Given the description of an element on the screen output the (x, y) to click on. 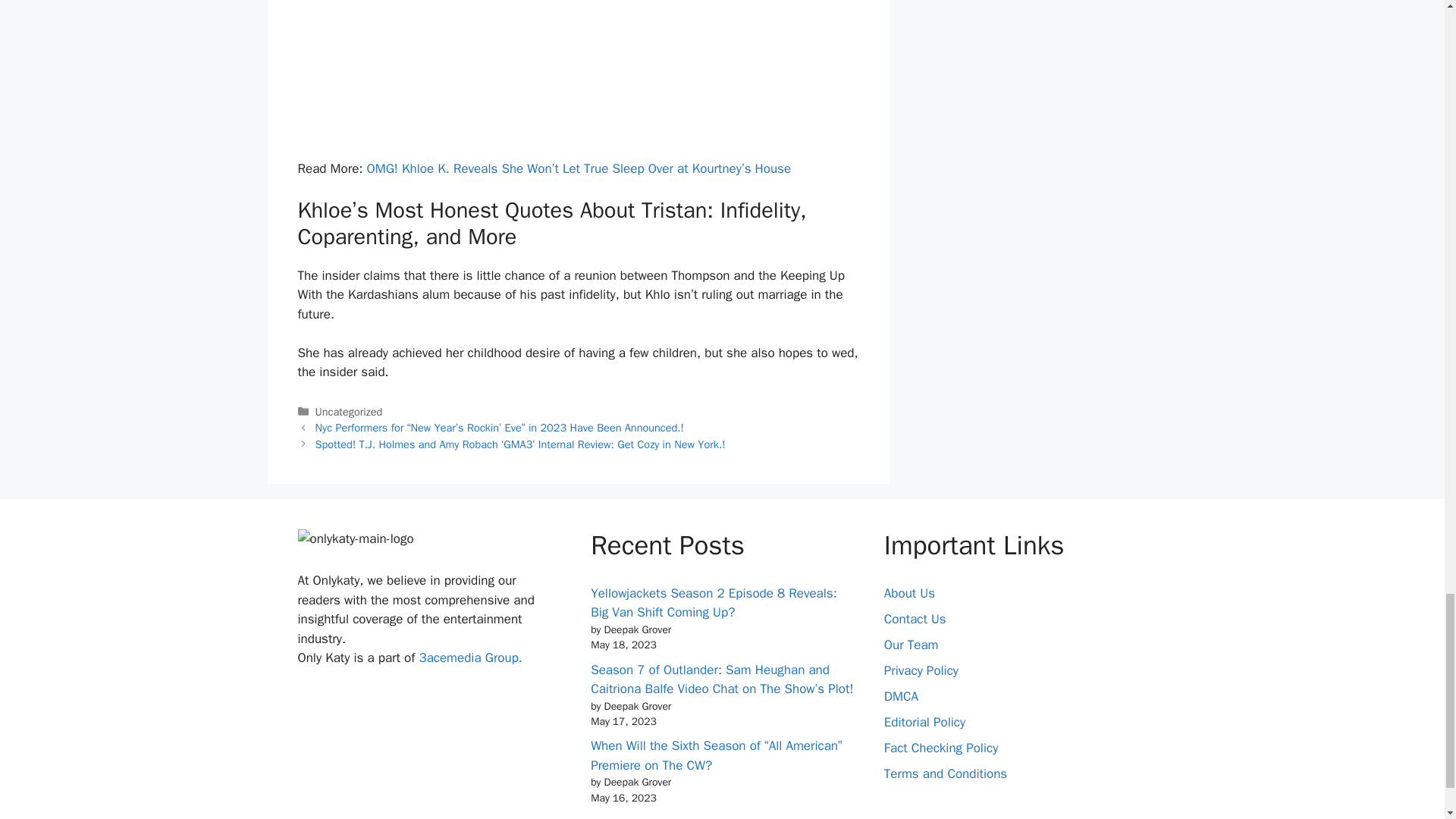
3acemedia Group. (470, 657)
Our Team (911, 644)
Contact Us (914, 618)
About Us (908, 593)
